Given the description of an element on the screen output the (x, y) to click on. 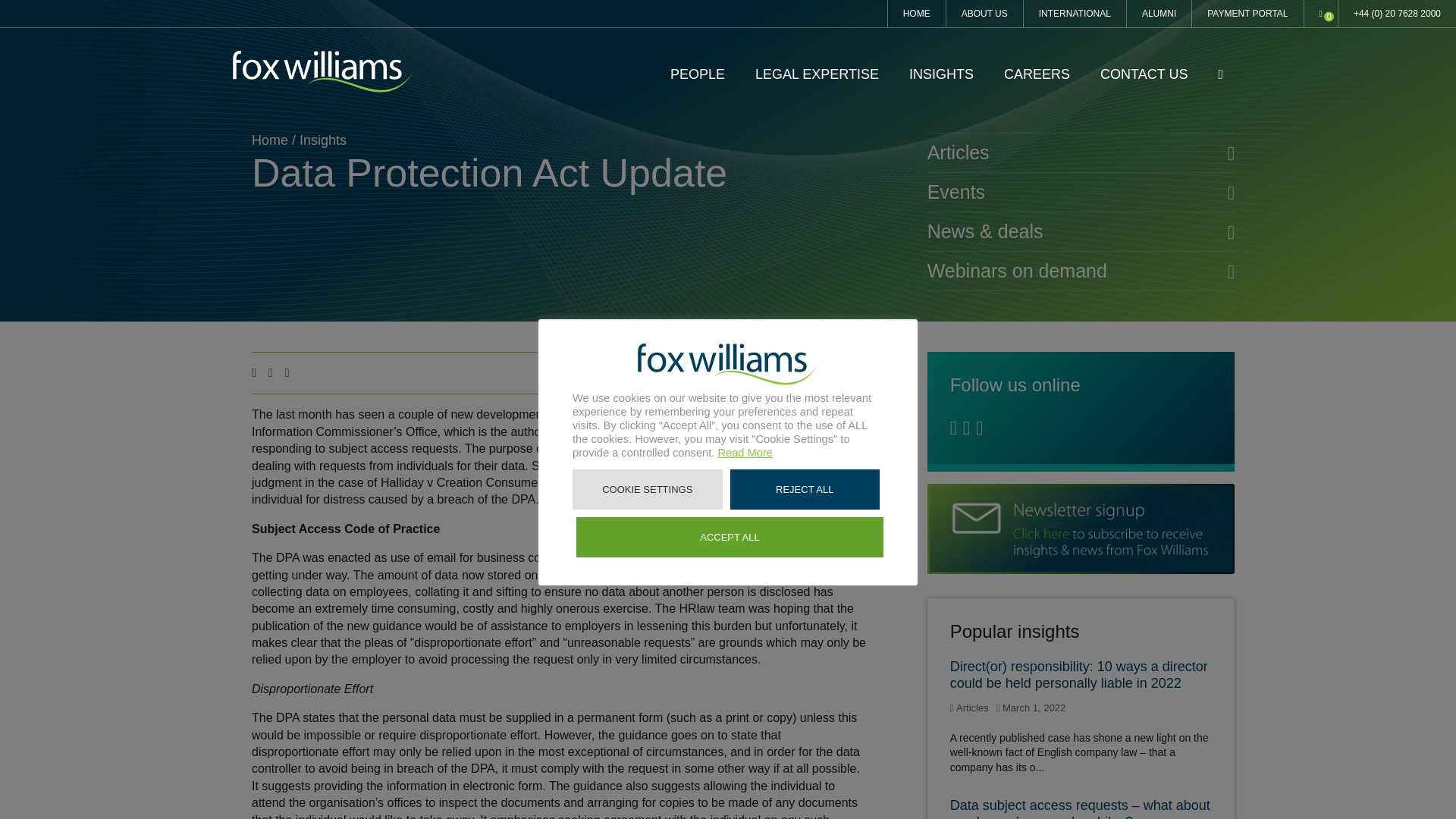
ALUMNI (1158, 13)
CAREERS (1037, 74)
ABOUT US (984, 13)
INSIGHTS (941, 74)
PAYMENT PORTAL (1247, 13)
0 (1321, 13)
Webinars on demand (1080, 270)
Events (1080, 192)
Articles (1080, 152)
CONTACT US (1144, 74)
PEOPLE (697, 74)
HOME (916, 13)
INTERNATIONAL (1074, 13)
LEGAL EXPERTISE (817, 74)
